Given the description of an element on the screen output the (x, y) to click on. 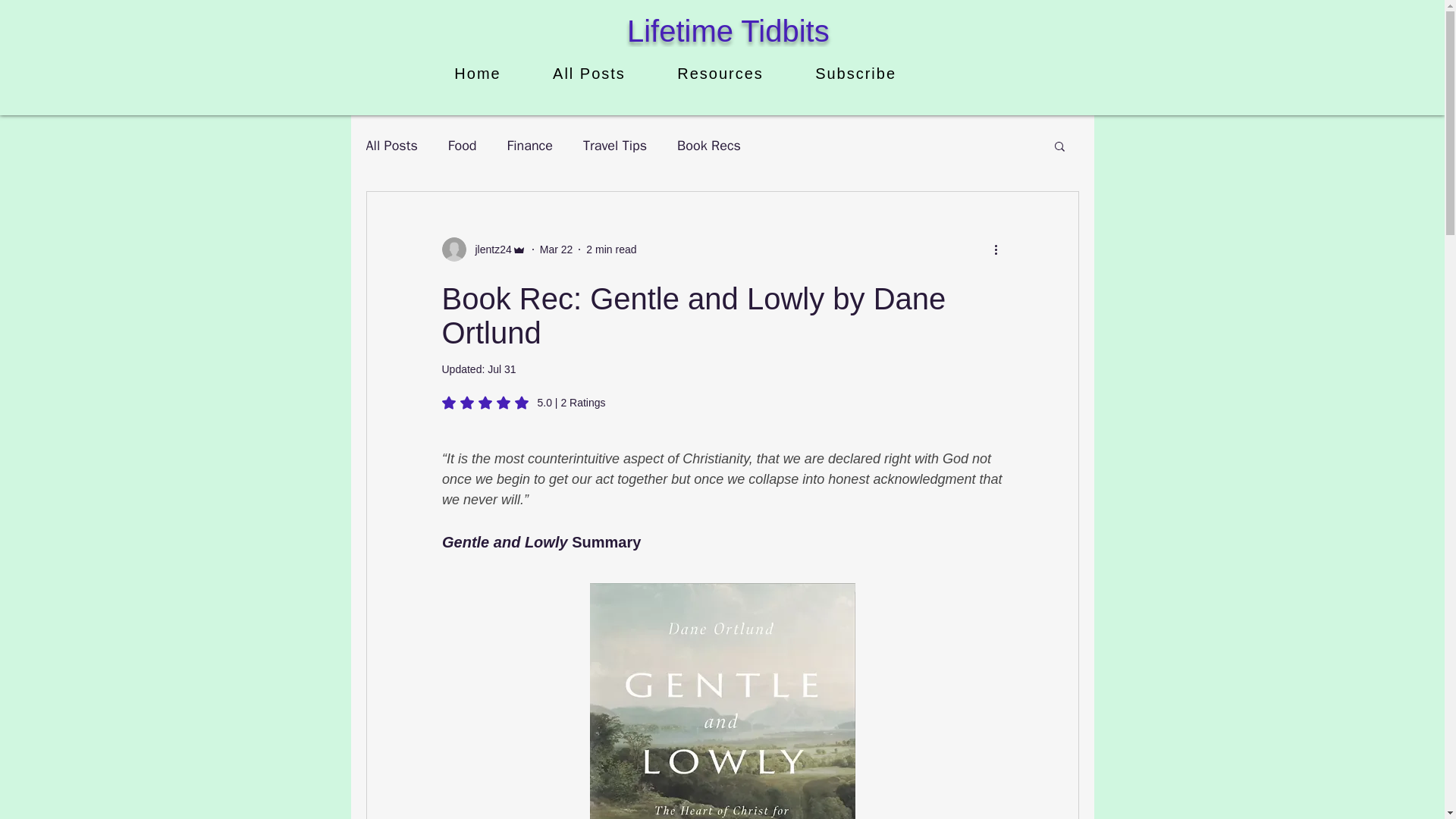
Home (477, 73)
All Posts (390, 145)
Food (462, 145)
Book Recs (709, 145)
Jul 31 (501, 369)
Subscribe (855, 73)
2 min read (611, 248)
Mar 22 (556, 248)
All Posts (588, 73)
Travel Tips (614, 145)
